Given the description of an element on the screen output the (x, y) to click on. 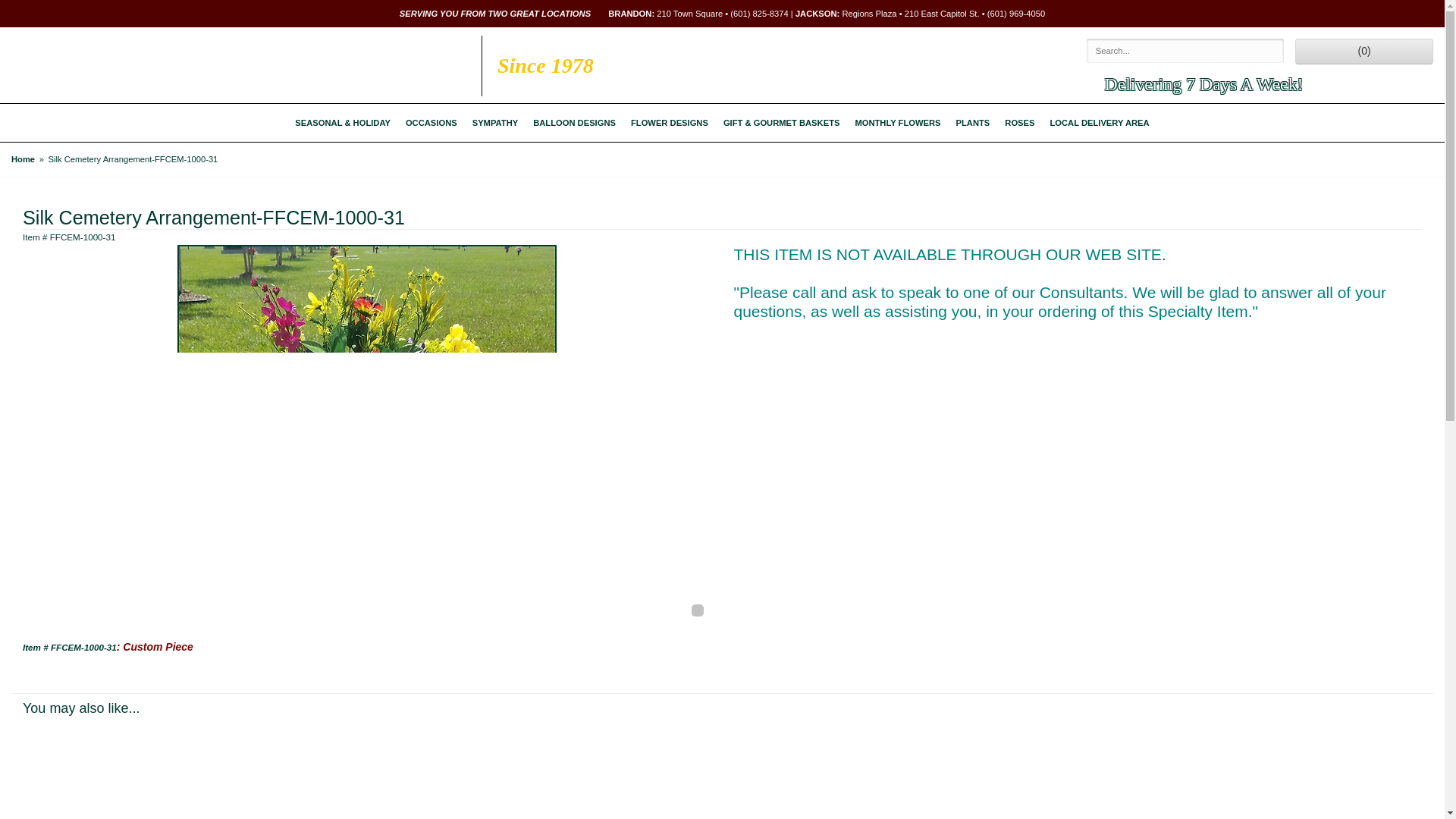
OCCASIONS (430, 122)
FLOWER DESIGNS (669, 122)
BALLOON DESIGNS (574, 122)
SYMPATHY (494, 122)
Green Floral, Inc. (152, 65)
